Given the description of an element on the screen output the (x, y) to click on. 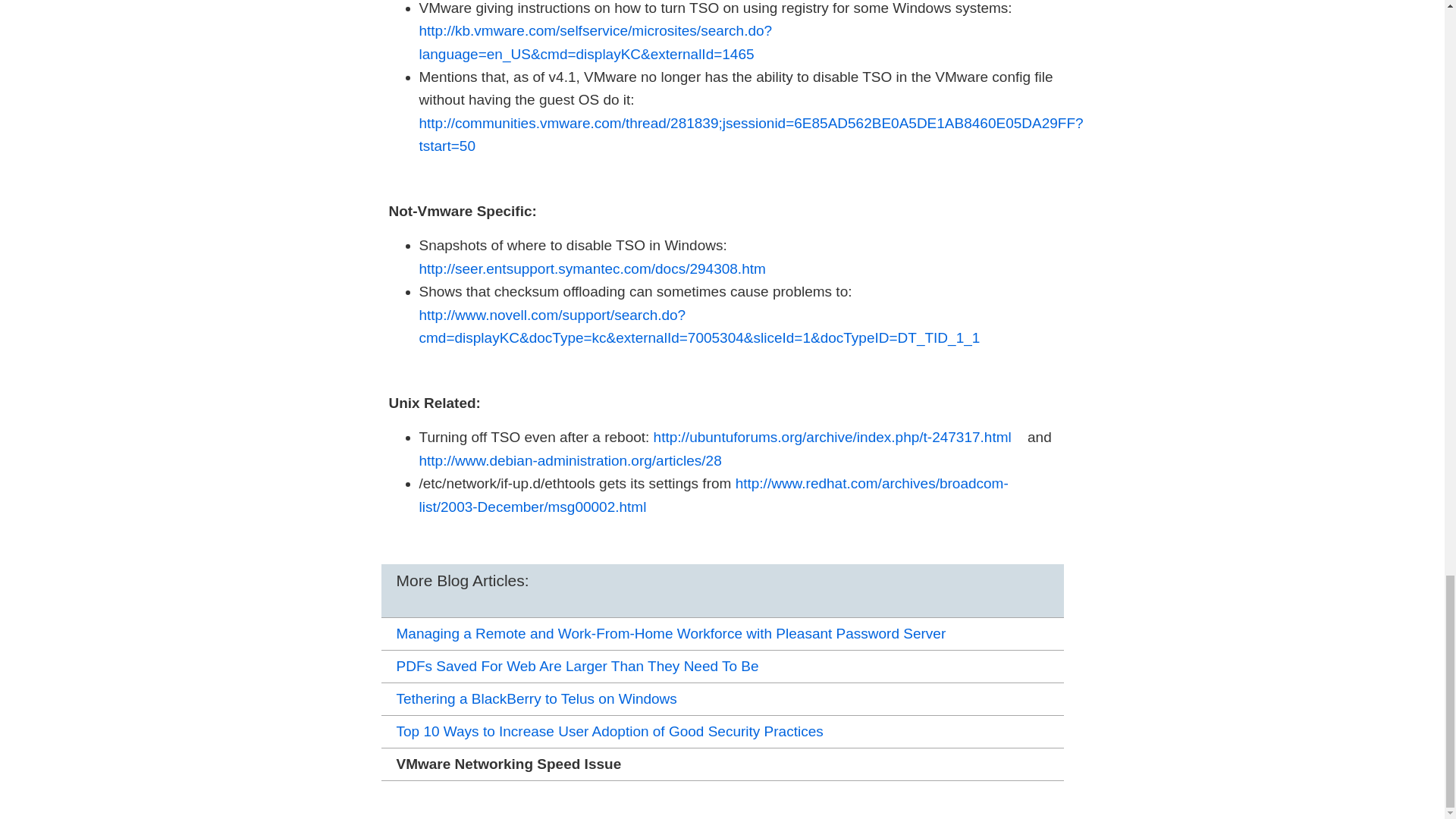
Tethering a BlackBerry to Telus on Windows (721, 699)
VMware Networking Speed Issue (721, 764)
Blog (721, 591)
PDFs Saved For Web Are Larger Than They Need To Be (721, 666)
